Given the description of an element on the screen output the (x, y) to click on. 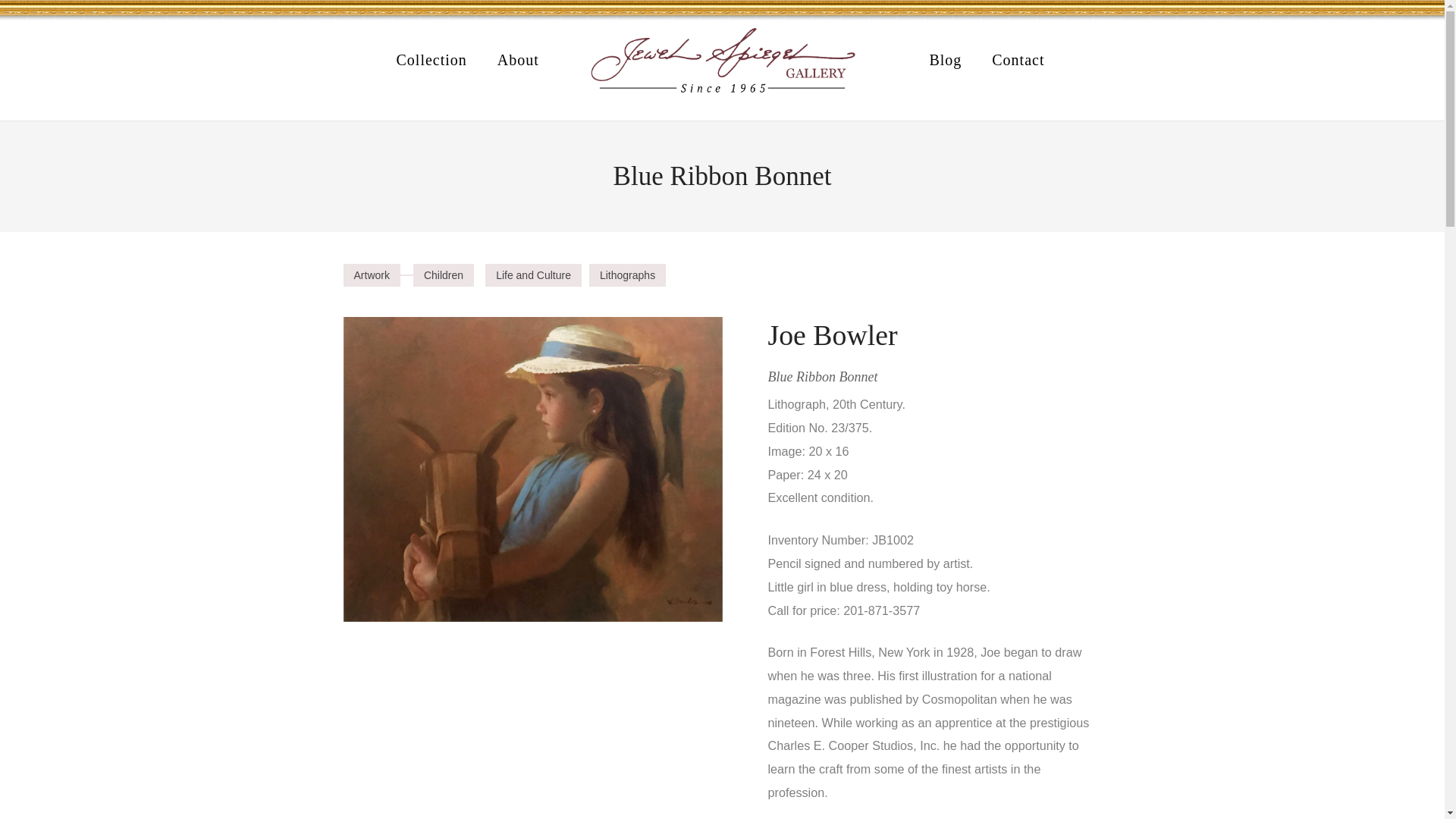
Life and Culture (532, 274)
Lithographs (627, 274)
Children (443, 274)
Artwork (370, 274)
